Given the description of an element on the screen output the (x, y) to click on. 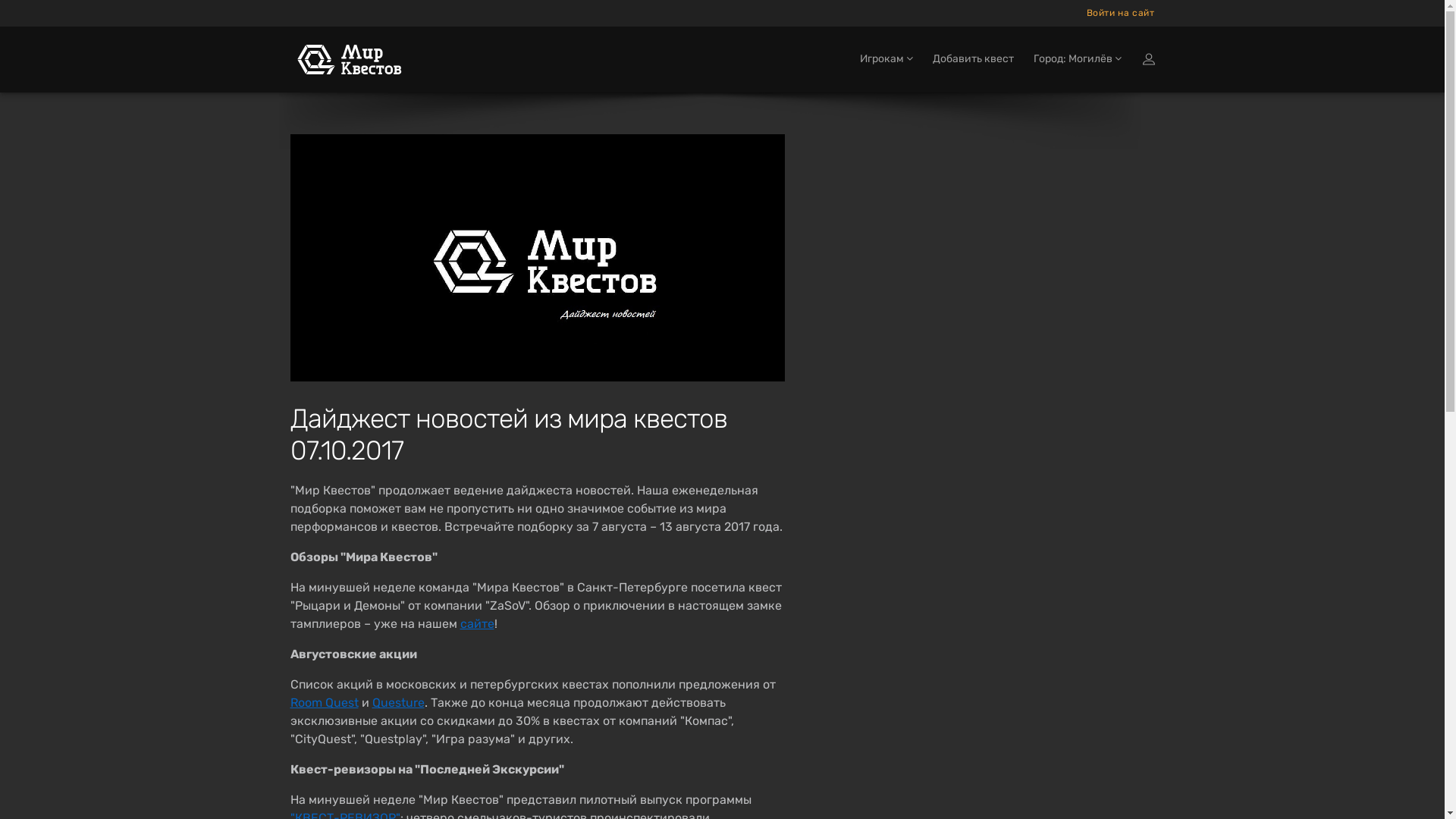
Questure Element type: text (397, 702)
Room Quest Element type: text (323, 702)
